Given the description of an element on the screen output the (x, y) to click on. 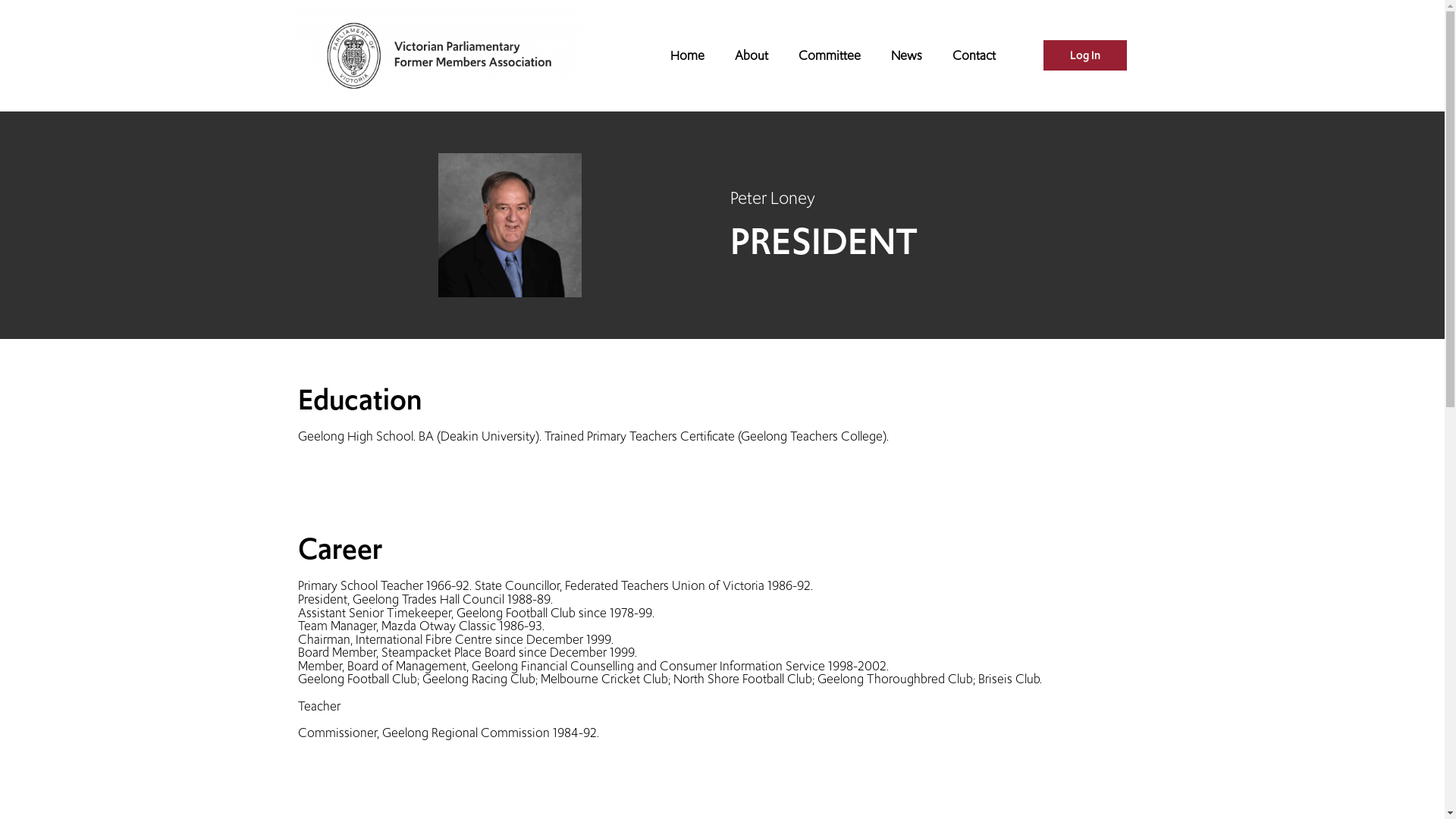
Committee Element type: text (829, 54)
Home Element type: text (687, 54)
About Element type: text (751, 54)
Log In Element type: text (1084, 55)
Contact Element type: text (973, 54)
News Element type: text (906, 54)
